Given the description of an element on the screen output the (x, y) to click on. 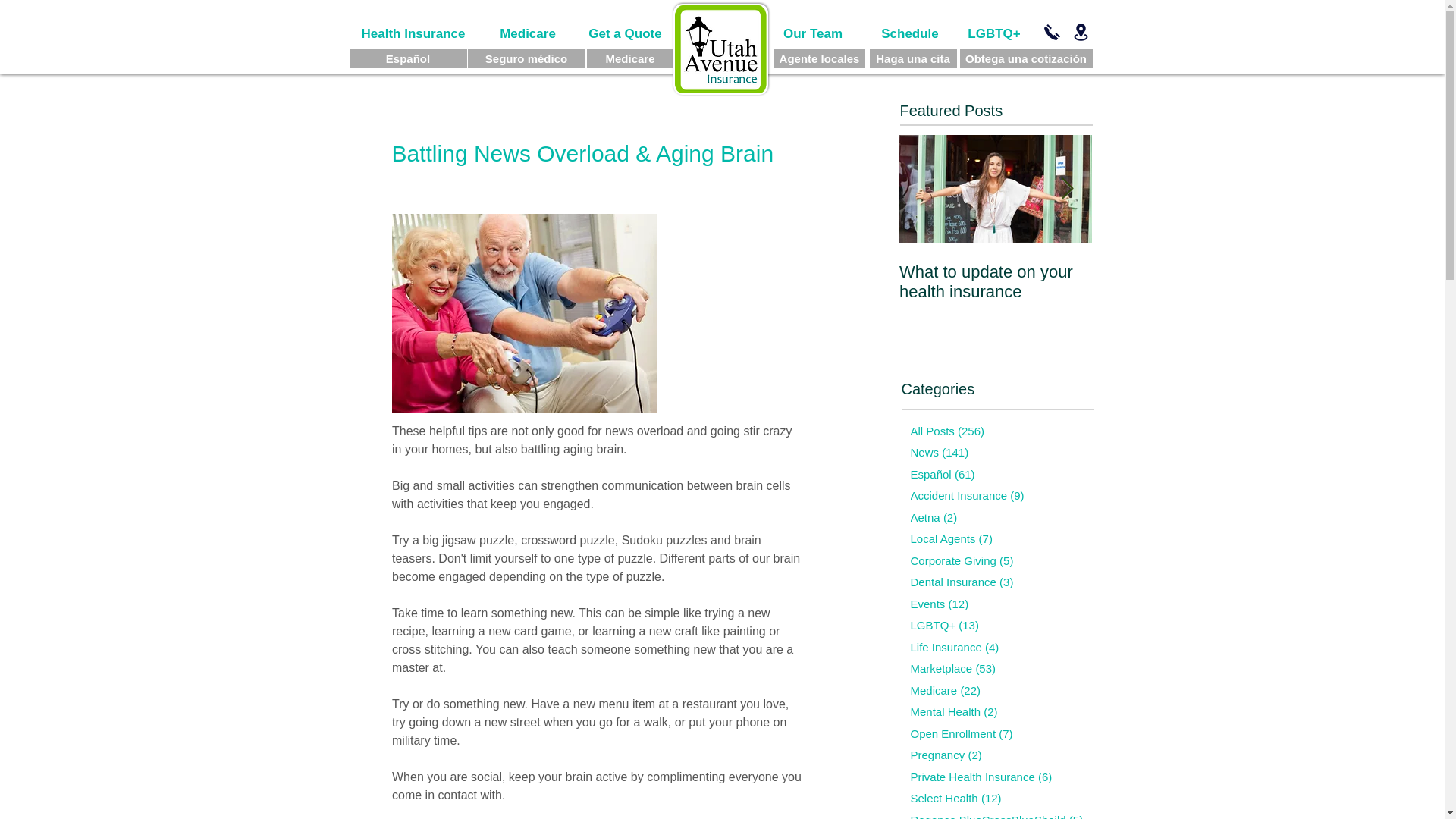
Our Team (812, 33)
Medicare (527, 33)
Agente locales (818, 58)
Schedule (909, 33)
Get a Quote (624, 33)
What to update on your health insurance (995, 282)
Medicare (630, 58)
Haga una cita (912, 58)
Health Insurance (412, 33)
